Given the description of an element on the screen output the (x, y) to click on. 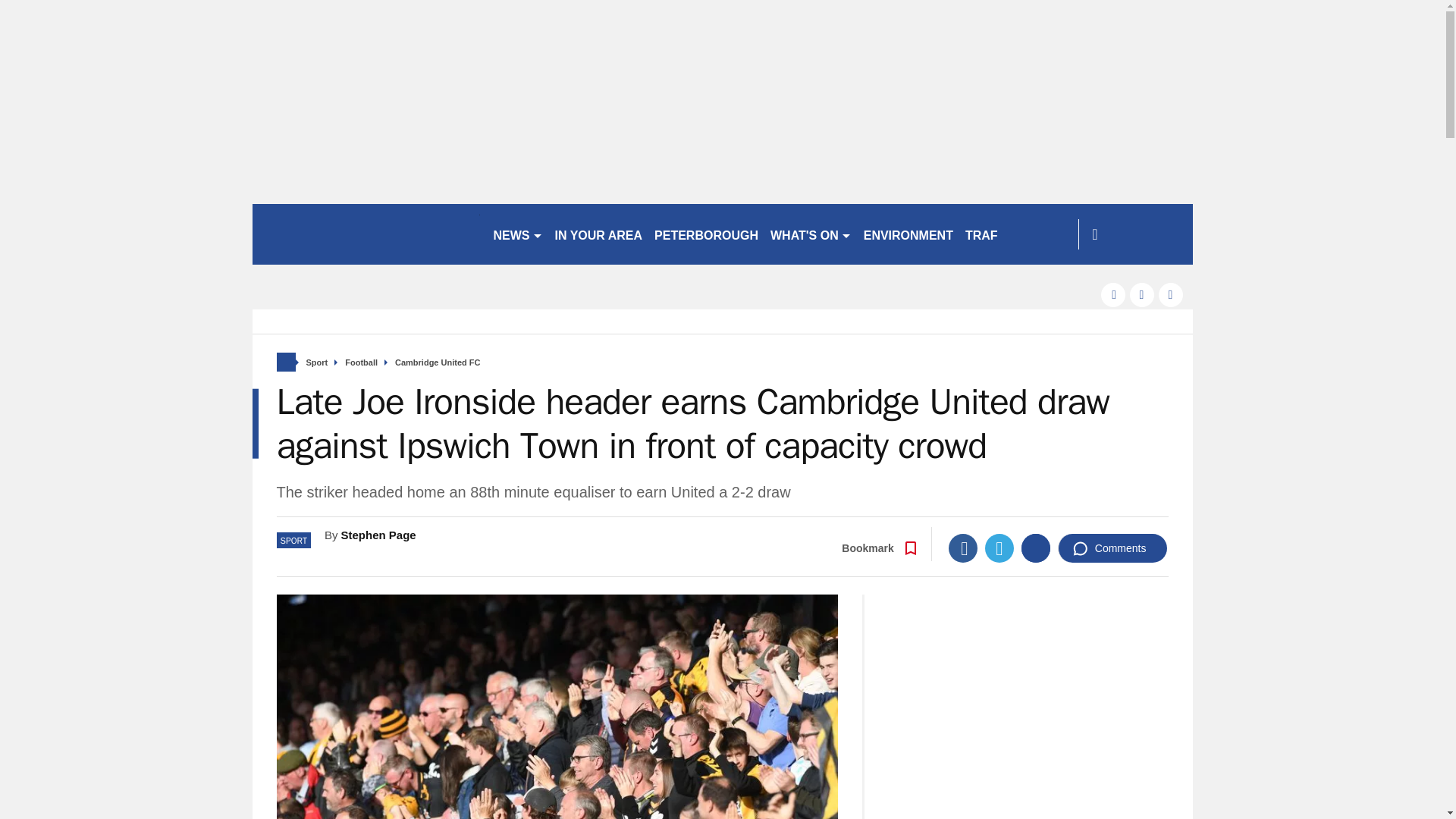
NEWS (517, 233)
cambridgenews (365, 233)
instagram (1170, 294)
PETERBOROUGH (705, 233)
ENVIRONMENT (908, 233)
Facebook (962, 547)
facebook (1112, 294)
IN YOUR AREA (598, 233)
WHAT'S ON (810, 233)
twitter (1141, 294)
